Given the description of an element on the screen output the (x, y) to click on. 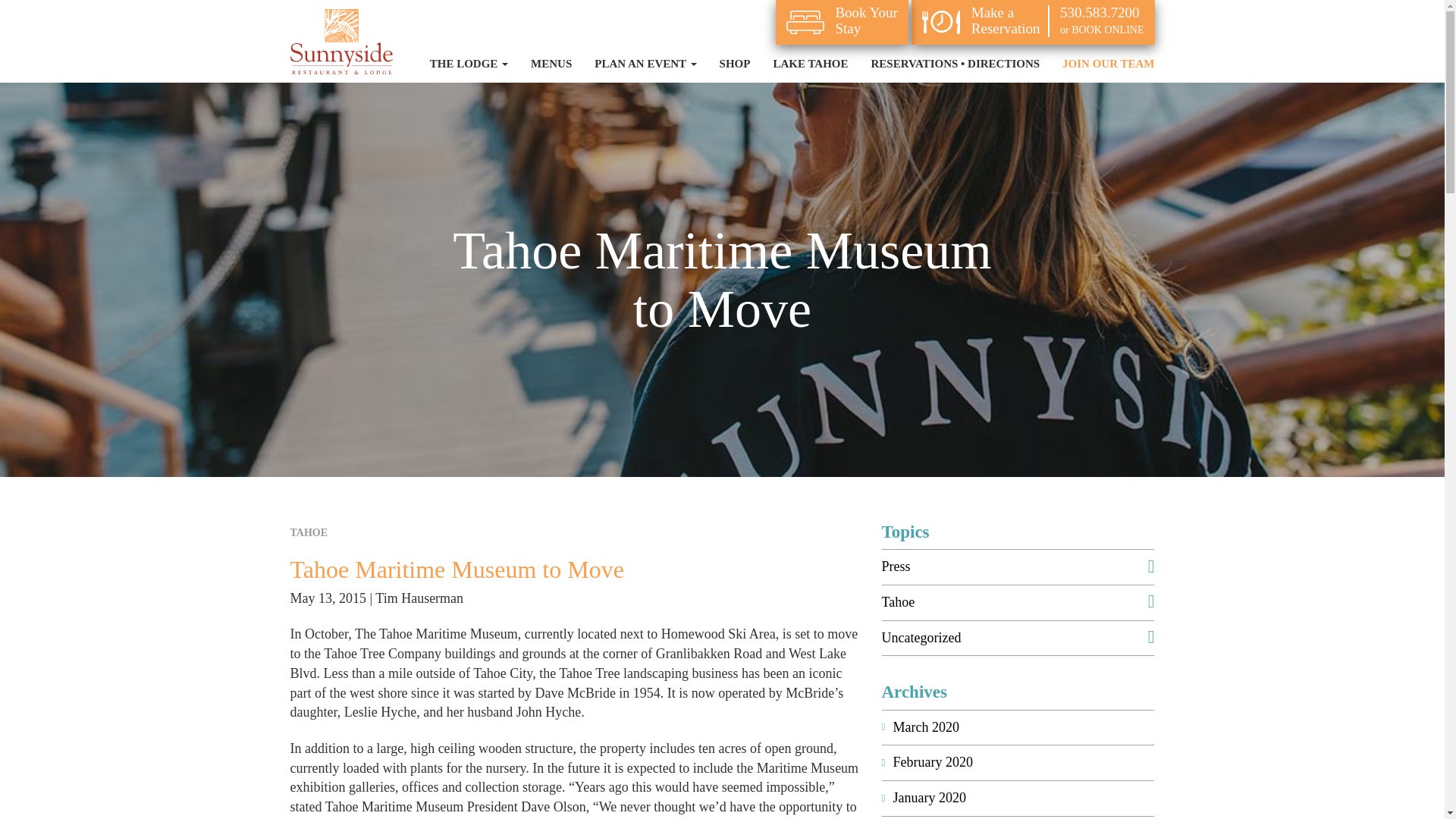
Plan an Event (645, 63)
TAHOE (308, 532)
JOIN OUR TEAM (1108, 63)
Uncategorized (1017, 638)
March 2020 (1023, 727)
Press (1017, 567)
Menus (551, 63)
PLAN AN EVENT (645, 63)
Tahoe (1017, 602)
LAKE TAHOE (810, 63)
Lake Tahoe (810, 63)
Shop (734, 63)
Join Our Team (1108, 63)
January 2020 (1023, 798)
